Given the description of an element on the screen output the (x, y) to click on. 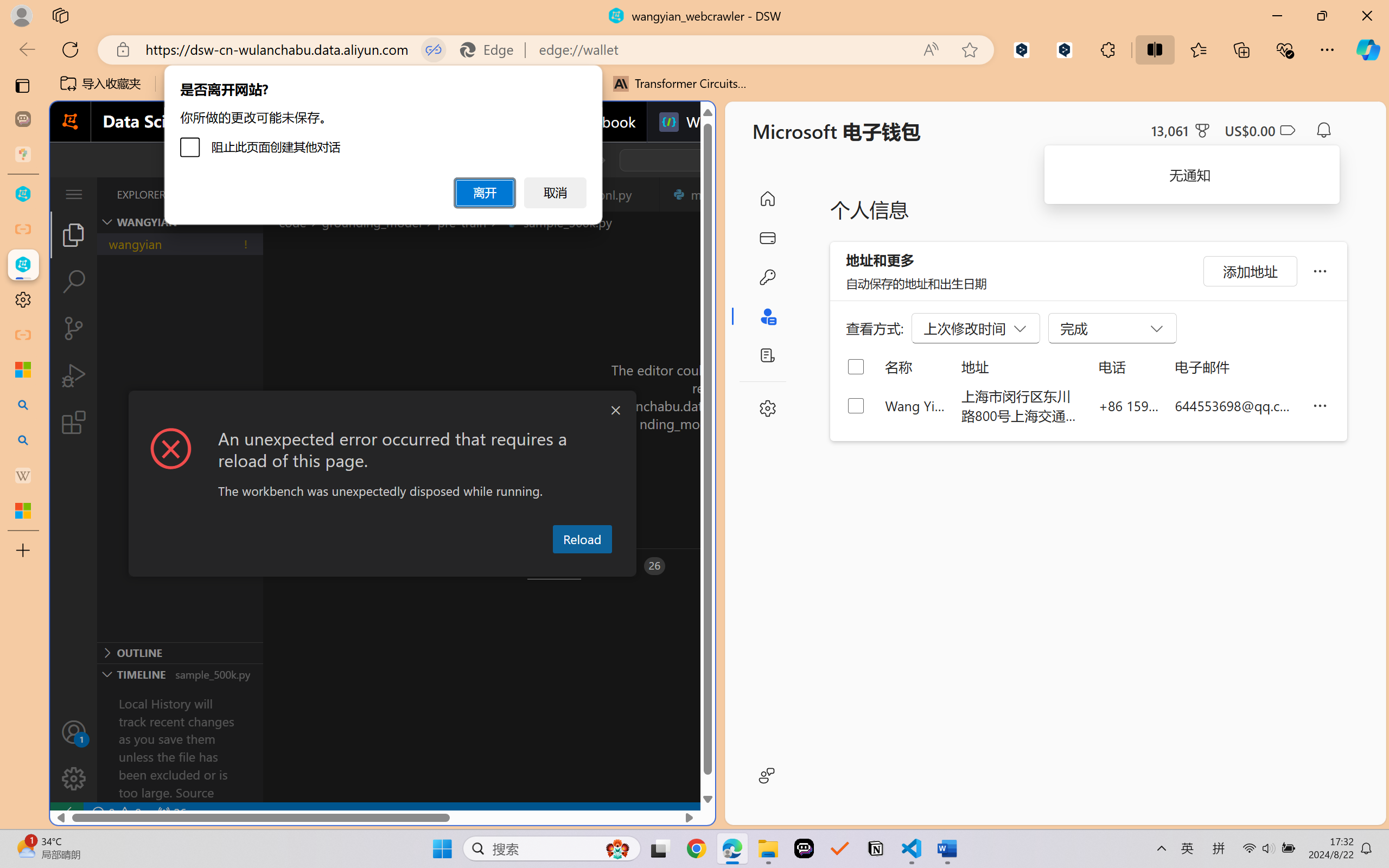
Close Dialog (615, 410)
+86 159 0032 4640 (1128, 405)
Outline Section (179, 652)
